Given the description of an element on the screen output the (x, y) to click on. 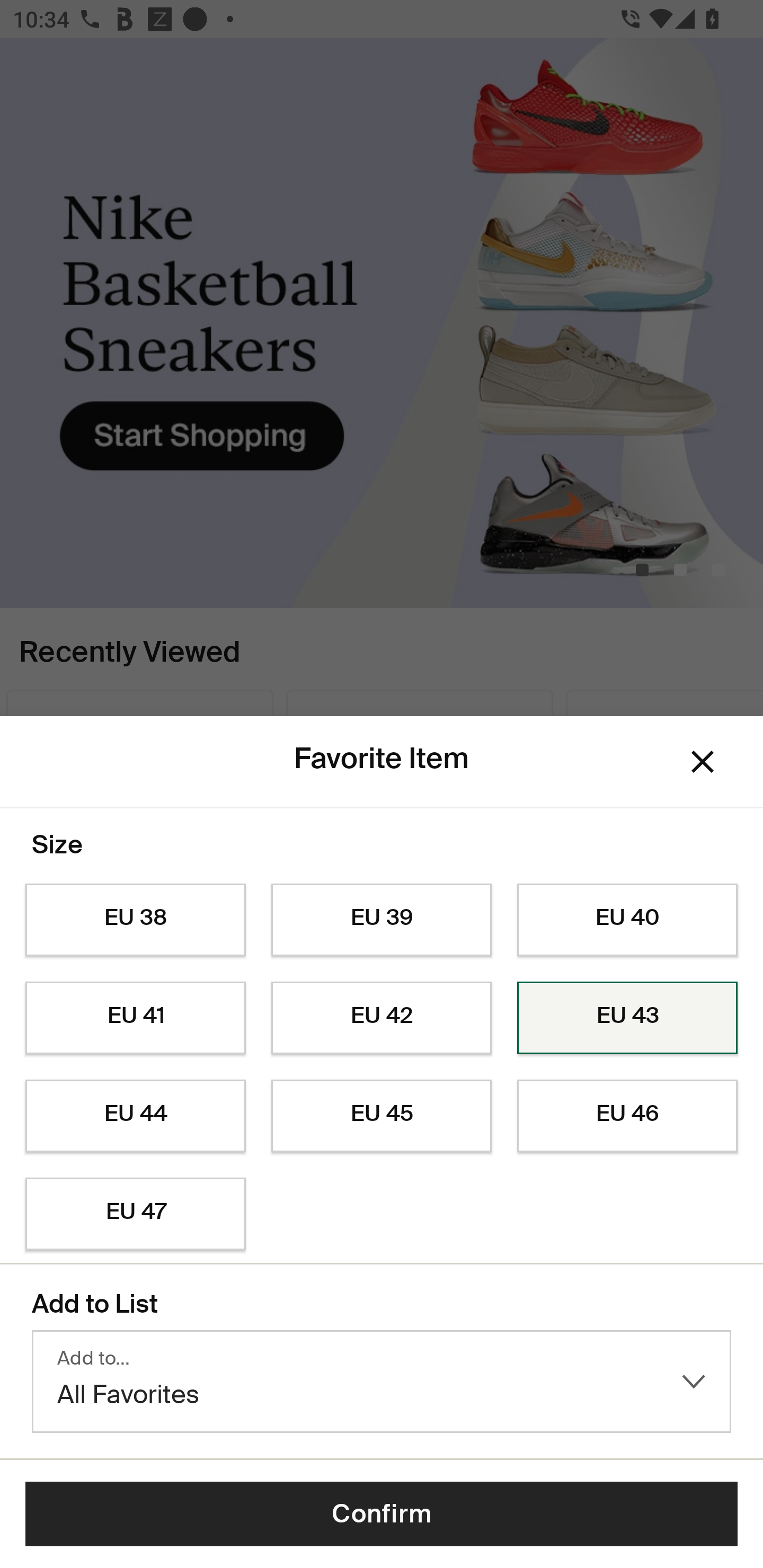
Dismiss (702, 760)
EU 38 (135, 919)
EU 39 (381, 919)
EU 40 (627, 919)
EU 41 (135, 1018)
EU 42 (381, 1018)
EU 43 (627, 1018)
EU 44 (135, 1116)
EU 45 (381, 1116)
EU 46 (627, 1116)
EU 47 (135, 1214)
Add to… All Favorites (381, 1381)
Confirm (381, 1513)
